Given the description of an element on the screen output the (x, y) to click on. 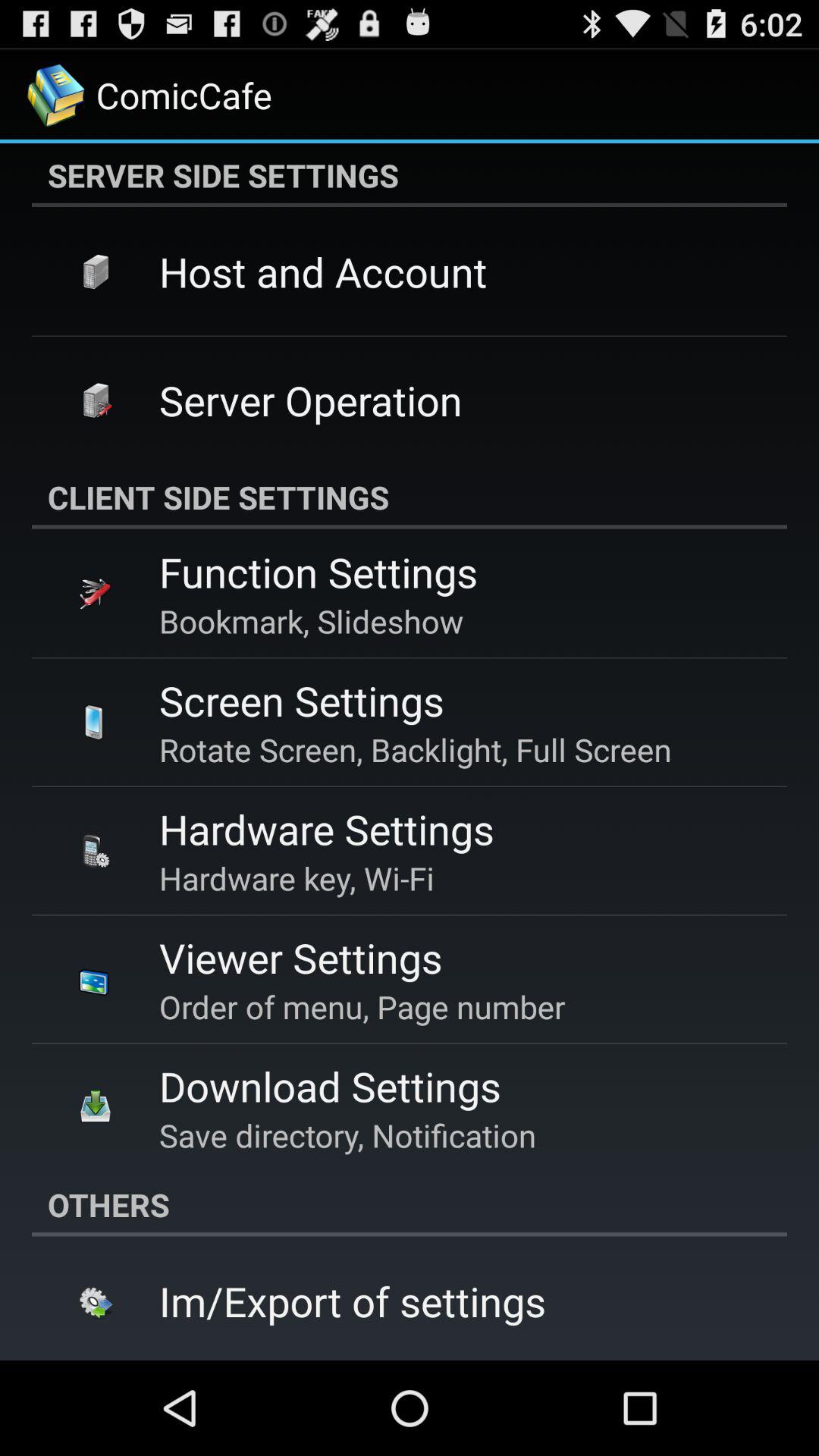
click the item above the download settings app (362, 1006)
